Given the description of an element on the screen output the (x, y) to click on. 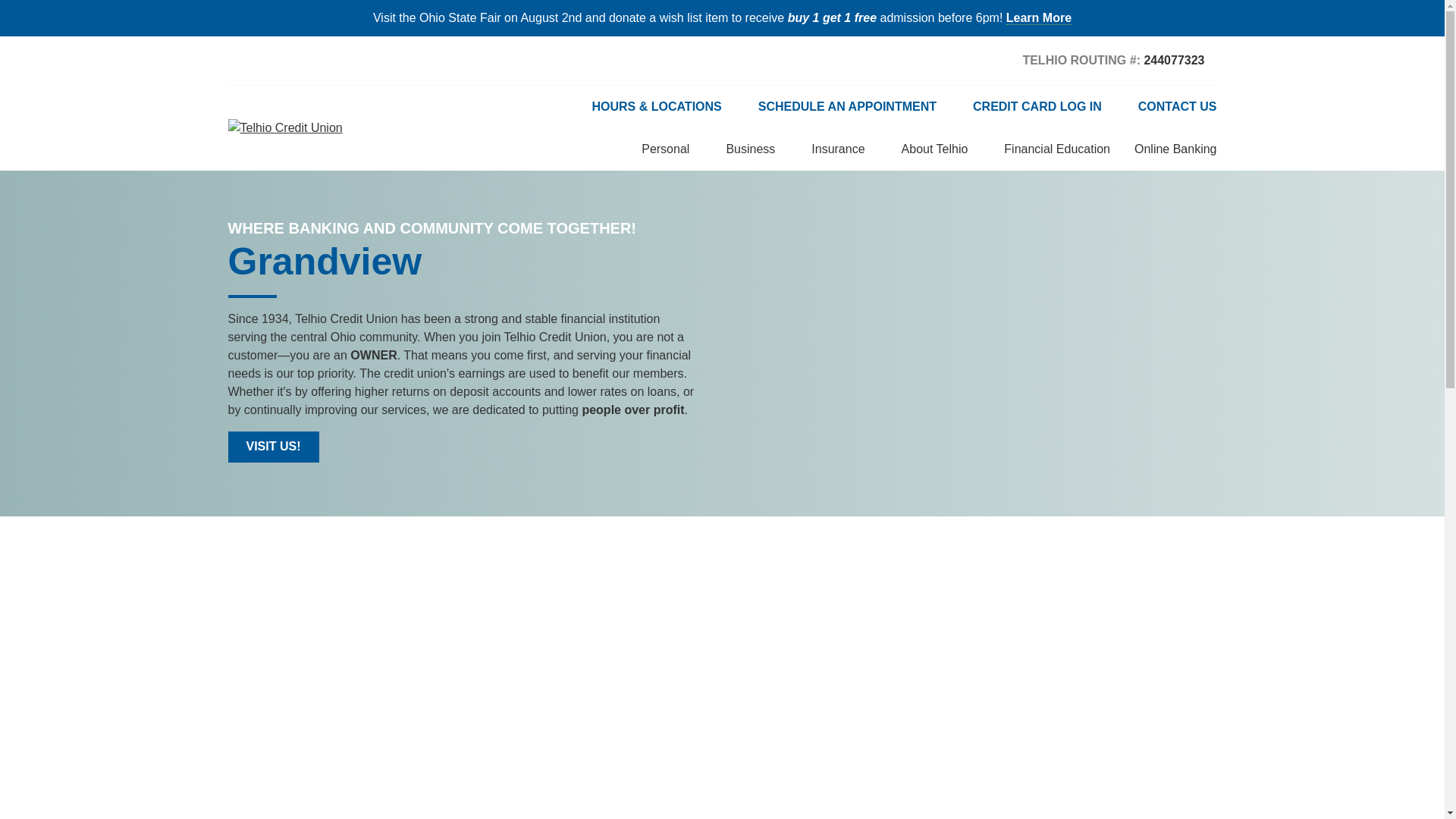
YouTube video player (721, 684)
